Given the description of an element on the screen output the (x, y) to click on. 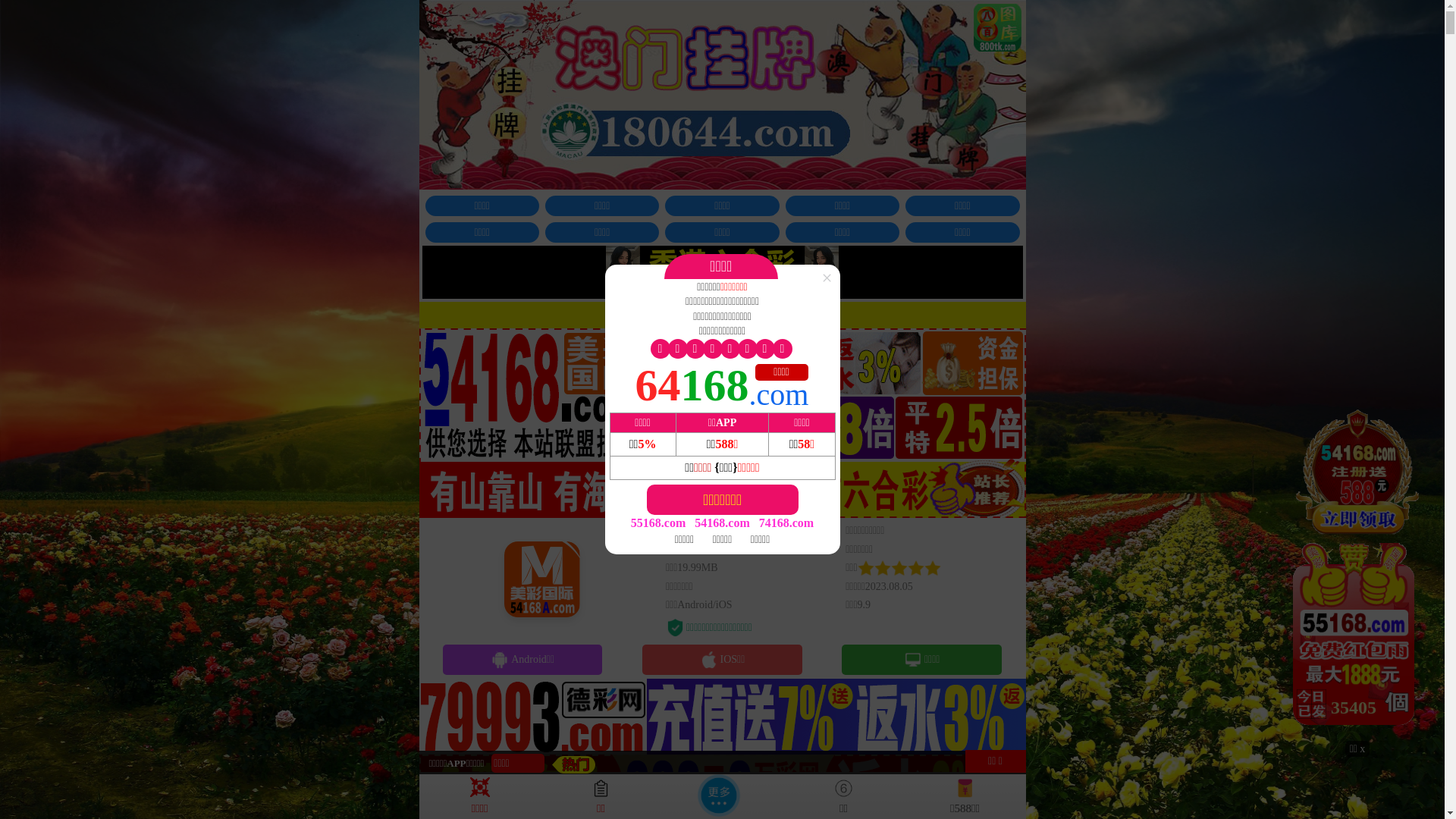
34725 Element type: text (1356, 572)
